Given the description of an element on the screen output the (x, y) to click on. 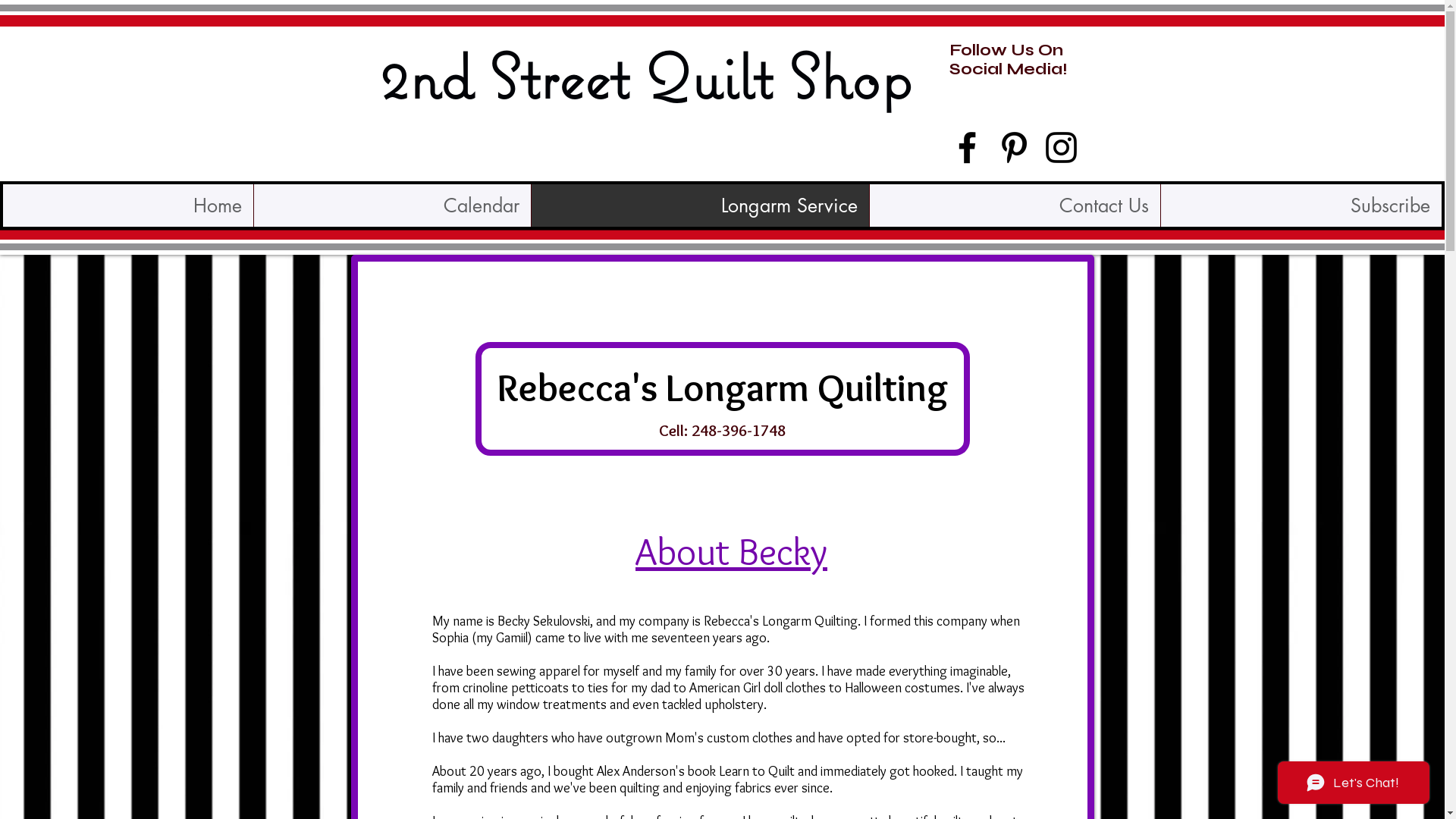
Calendar Element type: text (391, 205)
2nd Street Quilt Shop Element type: text (645, 75)
Contact Us Element type: text (1014, 205)
Longarm Service Element type: text (699, 205)
Subscribe Element type: text (1300, 205)
Home Element type: text (128, 205)
